Given the description of an element on the screen output the (x, y) to click on. 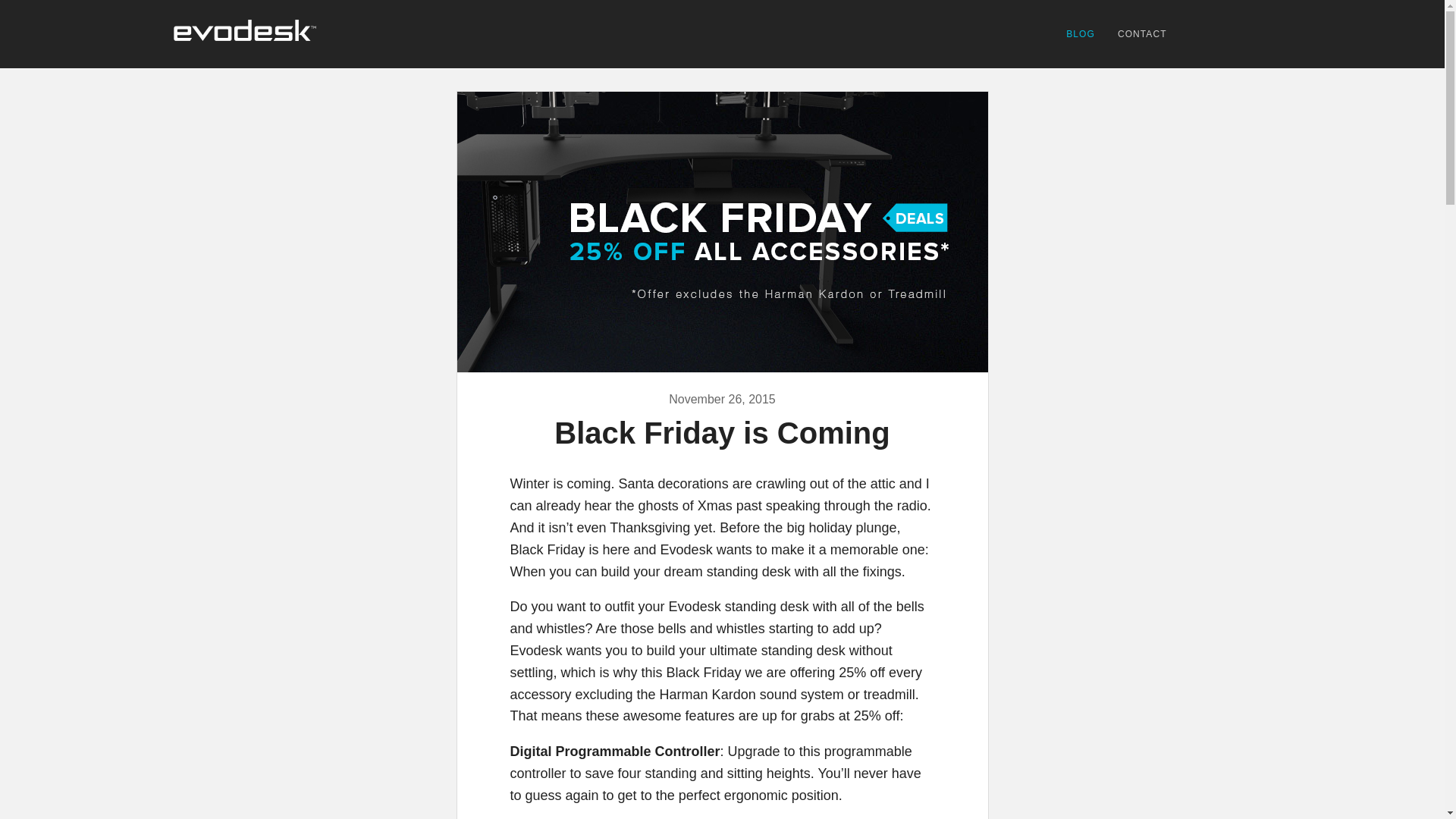
BLOG (1080, 33)
CONTACT (1141, 33)
